Given the description of an element on the screen output the (x, y) to click on. 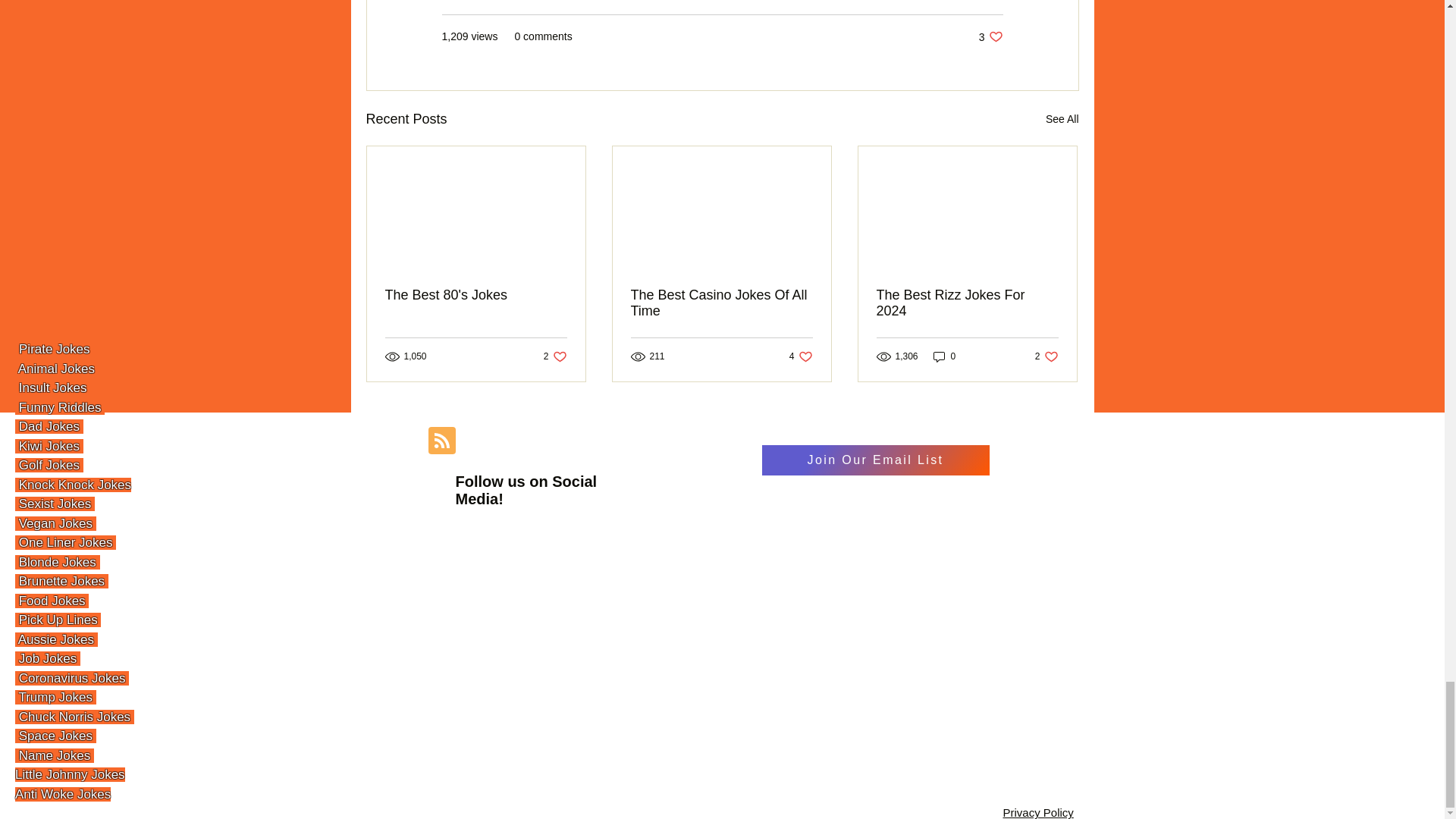
0 (944, 356)
The Best Casino Jokes Of All Time (721, 303)
The Best 80's Jokes (990, 36)
The Best Rizz Jokes For 2024 (476, 295)
See All (800, 356)
